Given the description of an element on the screen output the (x, y) to click on. 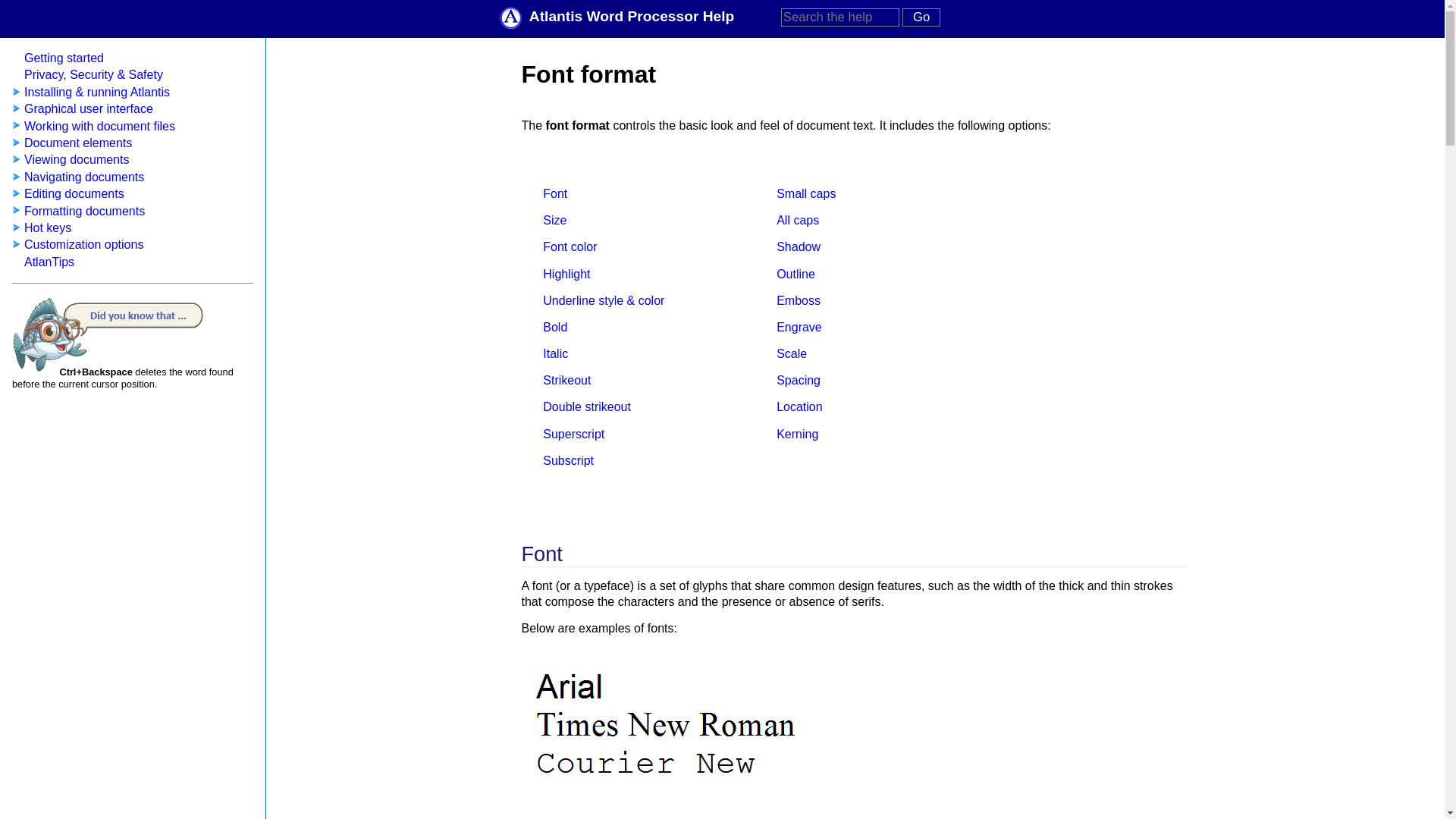
Working with document files (99, 125)
Go (921, 17)
Graphical user interface (88, 108)
Atlantis Word Processor (514, 16)
Getting started (63, 57)
